Given the description of an element on the screen output the (x, y) to click on. 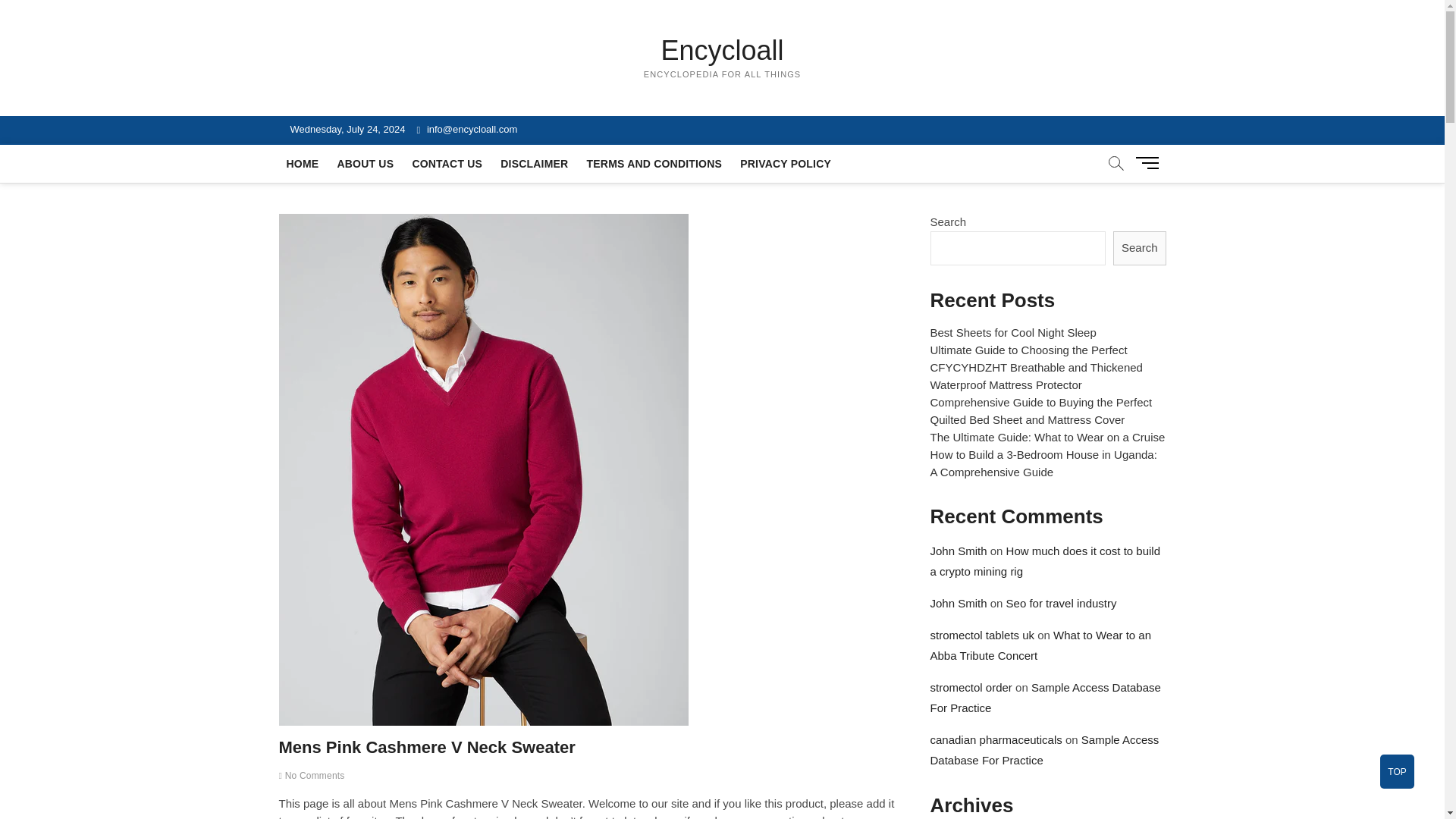
Encycloall (722, 50)
HOME (302, 163)
Encycloall (722, 50)
Menu Button (1150, 162)
PRIVACY POLICY (785, 163)
Search (1139, 247)
The Ultimate Guide: What to Wear on a Cruise (1047, 436)
Best Sheets for Cool Night Sleep (1013, 332)
Mail Us (467, 129)
No Comments (312, 775)
ABOUT US (365, 163)
DISCLAIMER (534, 163)
